Given the description of an element on the screen output the (x, y) to click on. 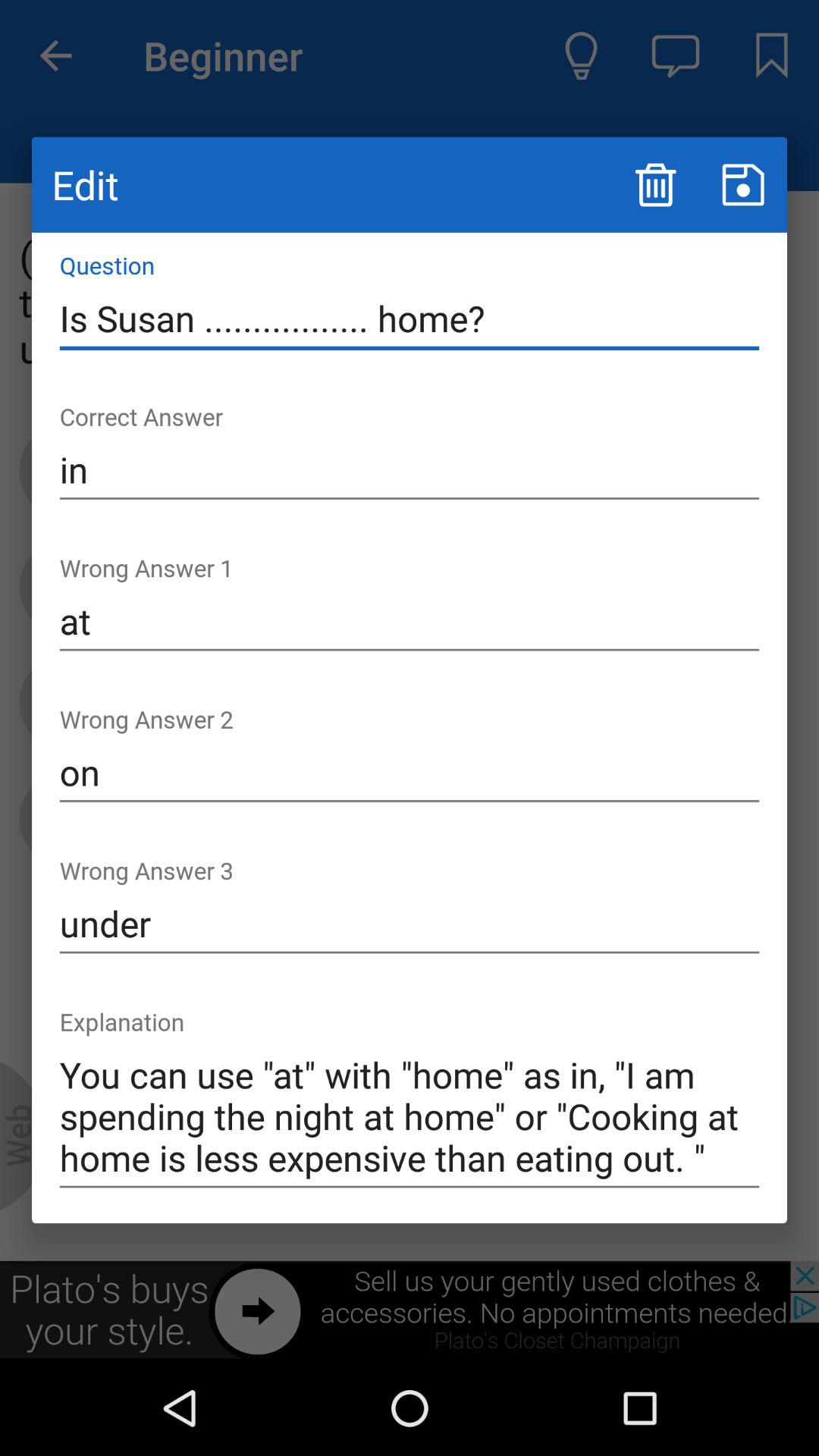
click the under icon (409, 924)
